Given the description of an element on the screen output the (x, y) to click on. 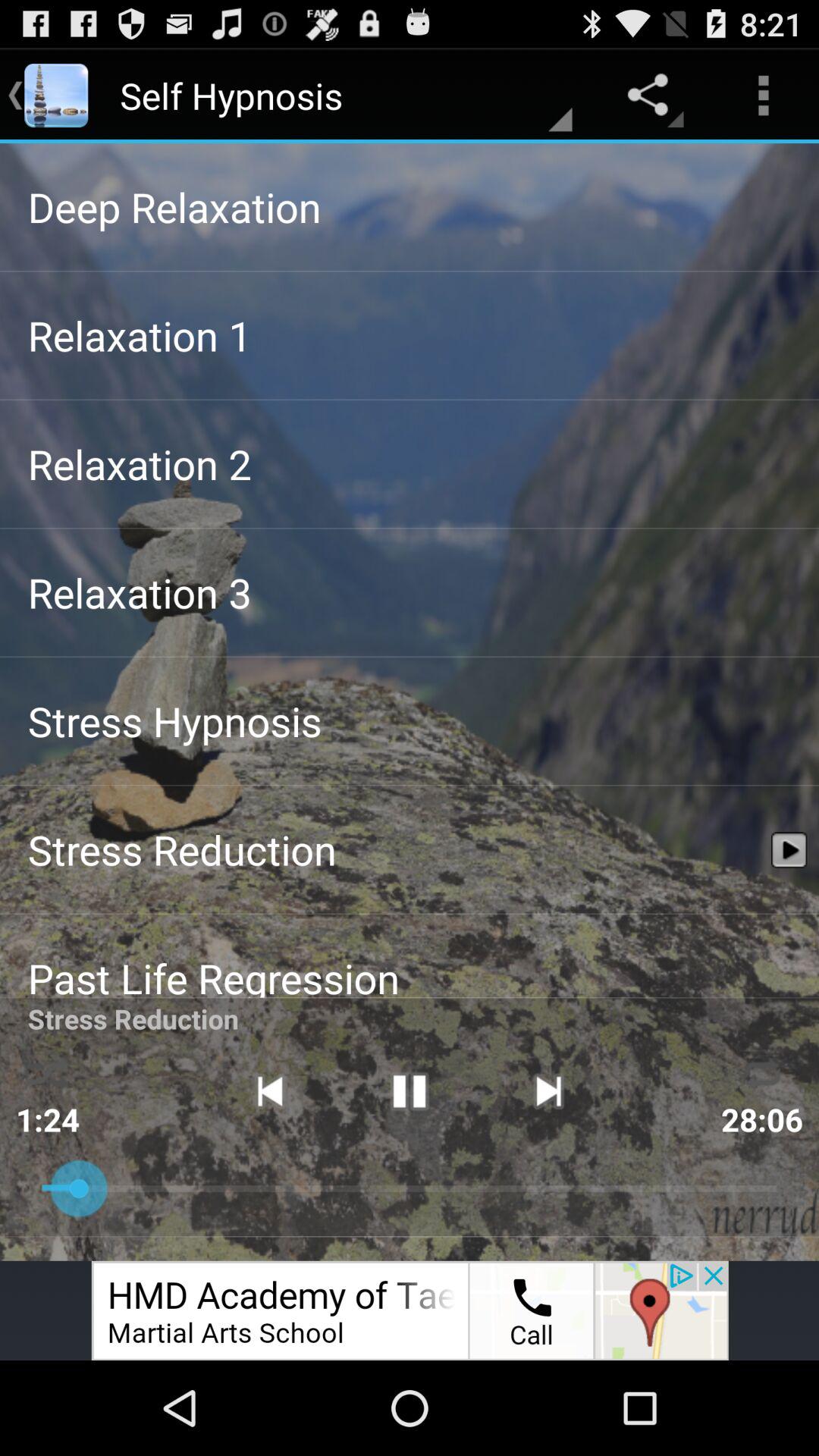
click on advertisement (409, 1310)
